Given the description of an element on the screen output the (x, y) to click on. 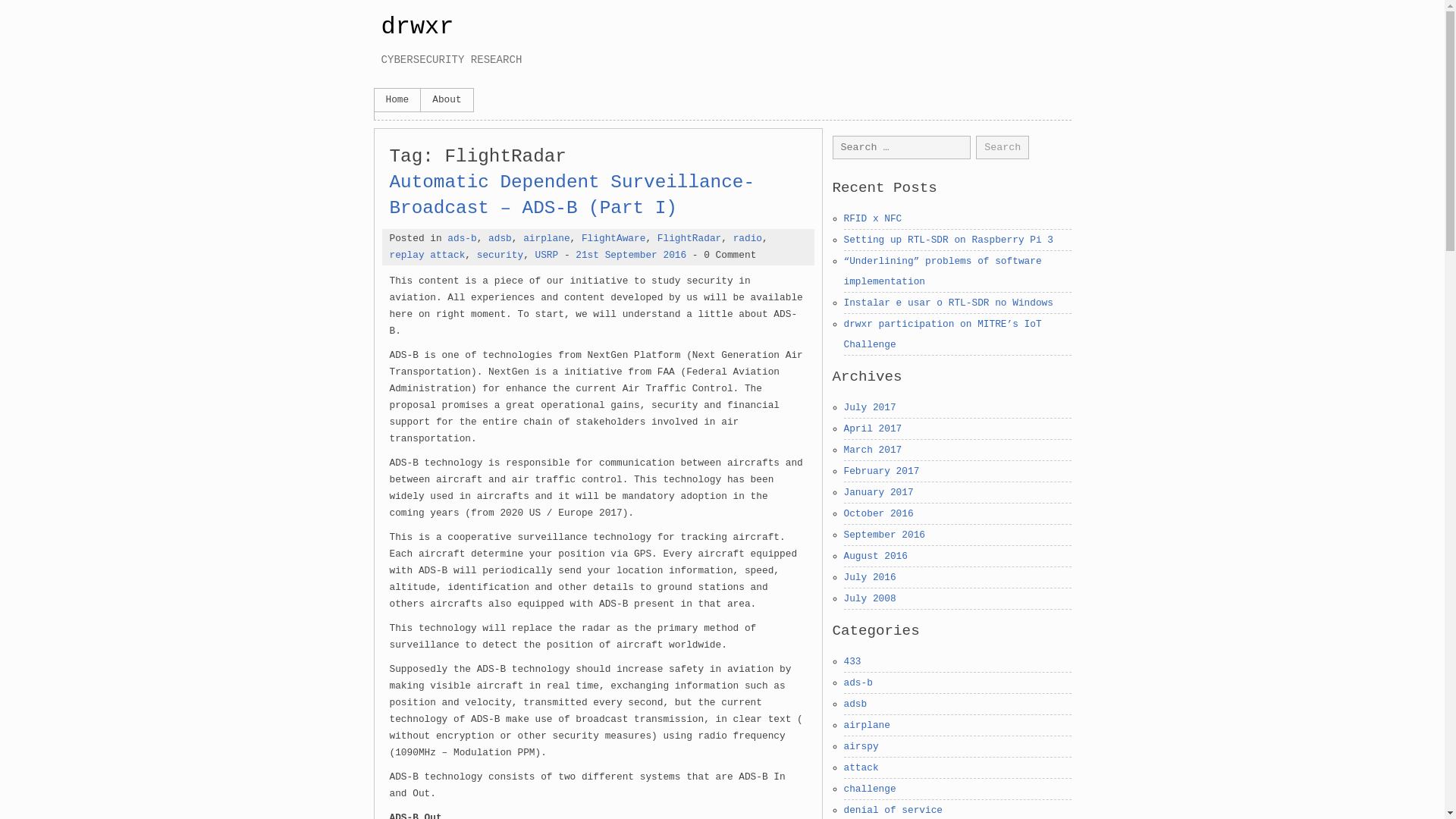
July 2016 (869, 577)
ads-b (461, 238)
October 2016 (877, 513)
Setting up RTL-SDR on Raspberry Pi 3 (947, 239)
USRP (547, 255)
March 2017 (872, 449)
Home (397, 99)
About (445, 99)
FlightAware (612, 238)
July 2017 (869, 407)
July 2008 (869, 598)
Search (1002, 146)
radio (747, 238)
FlightRadar (689, 238)
January 2017 (877, 491)
